Given the description of an element on the screen output the (x, y) to click on. 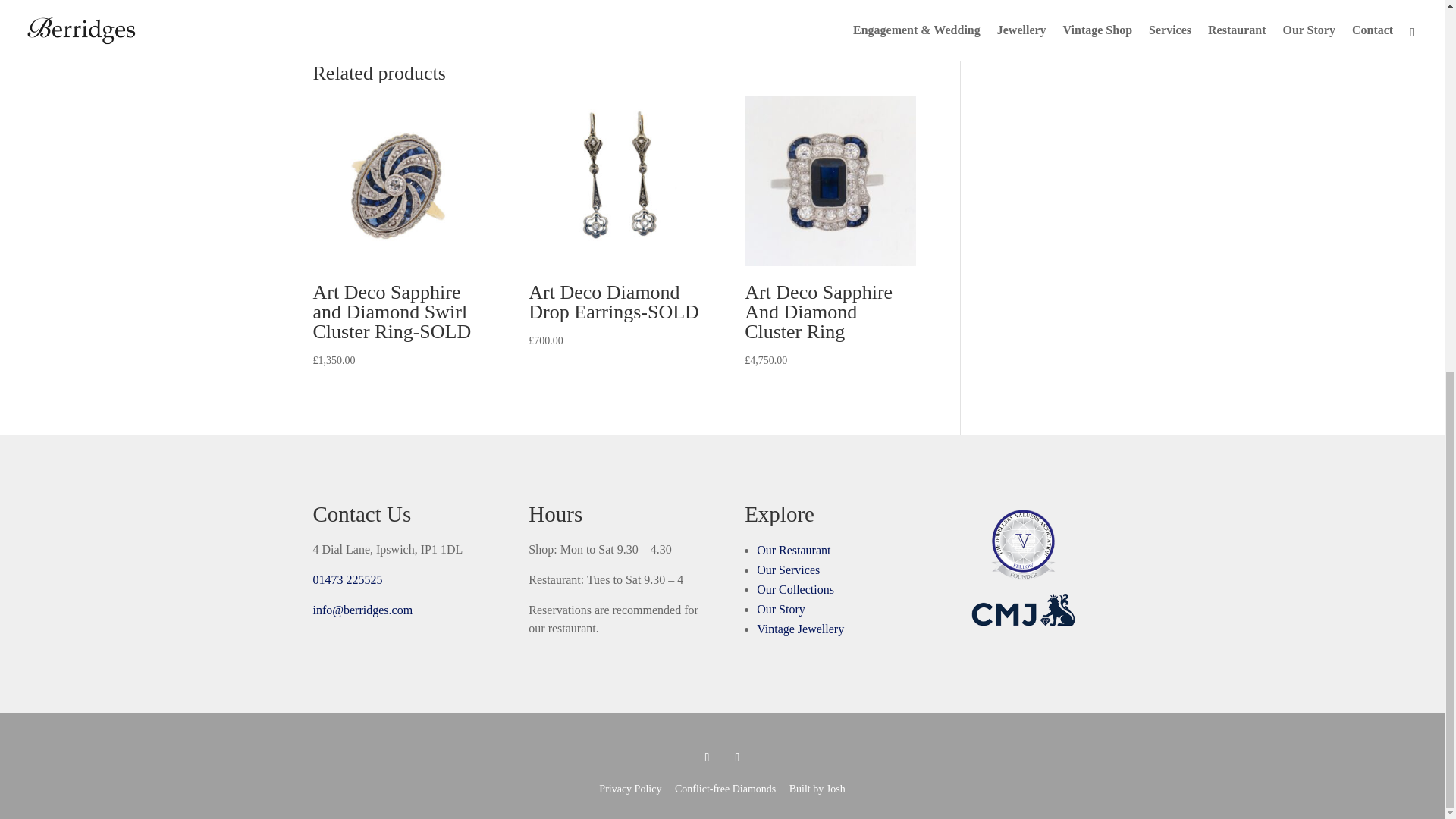
Follow on Facebook (706, 757)
Follow on Instagram (737, 757)
